Given the description of an element on the screen output the (x, y) to click on. 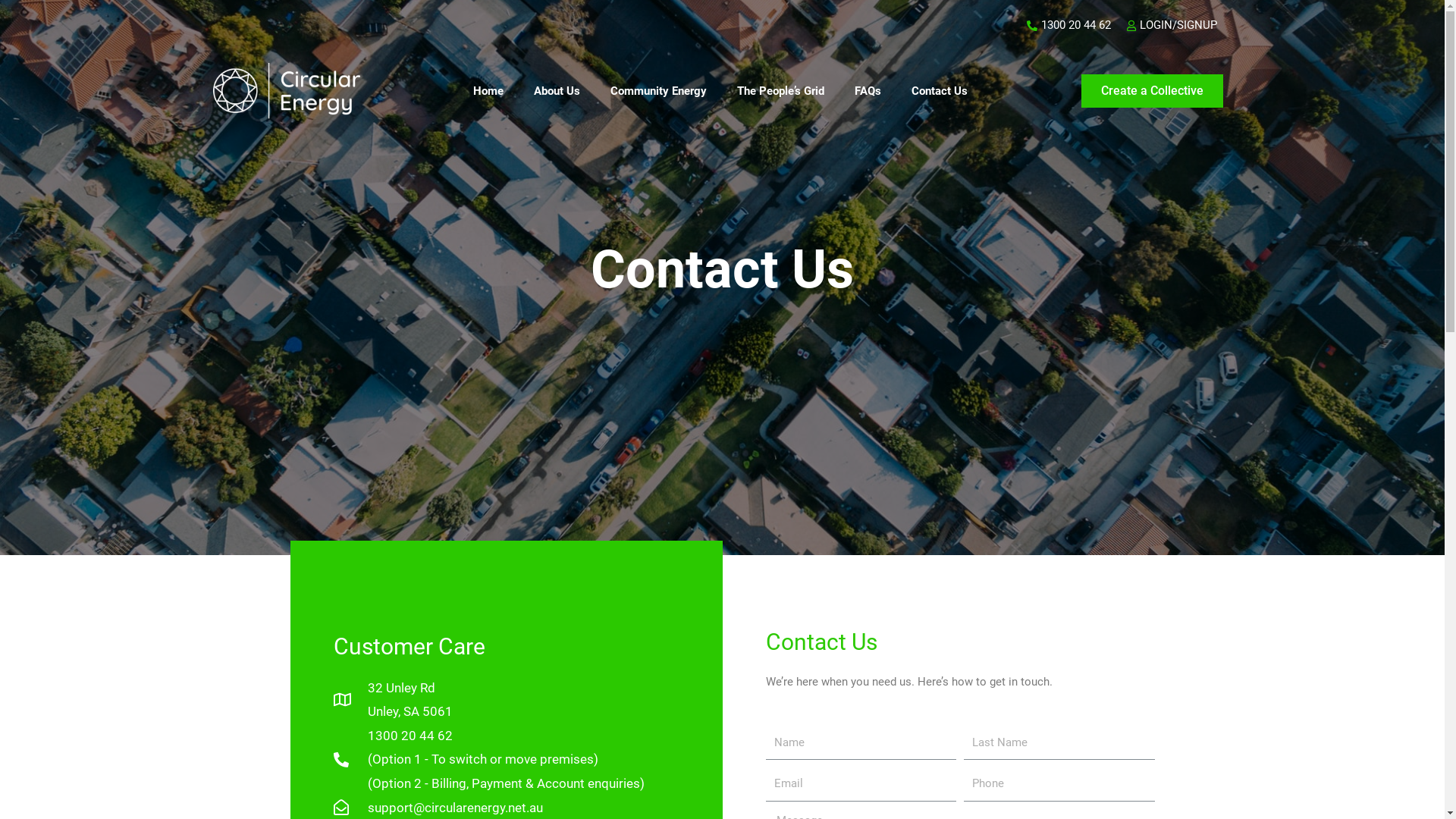
Community Energy Element type: text (658, 90)
Create a Collective Element type: text (1152, 90)
FAQs Element type: text (867, 90)
LOGIN/SIGNUP Element type: text (1170, 25)
About Us Element type: text (556, 90)
Home Element type: text (488, 90)
Contact Us Element type: text (939, 90)
